Given the description of an element on the screen output the (x, y) to click on. 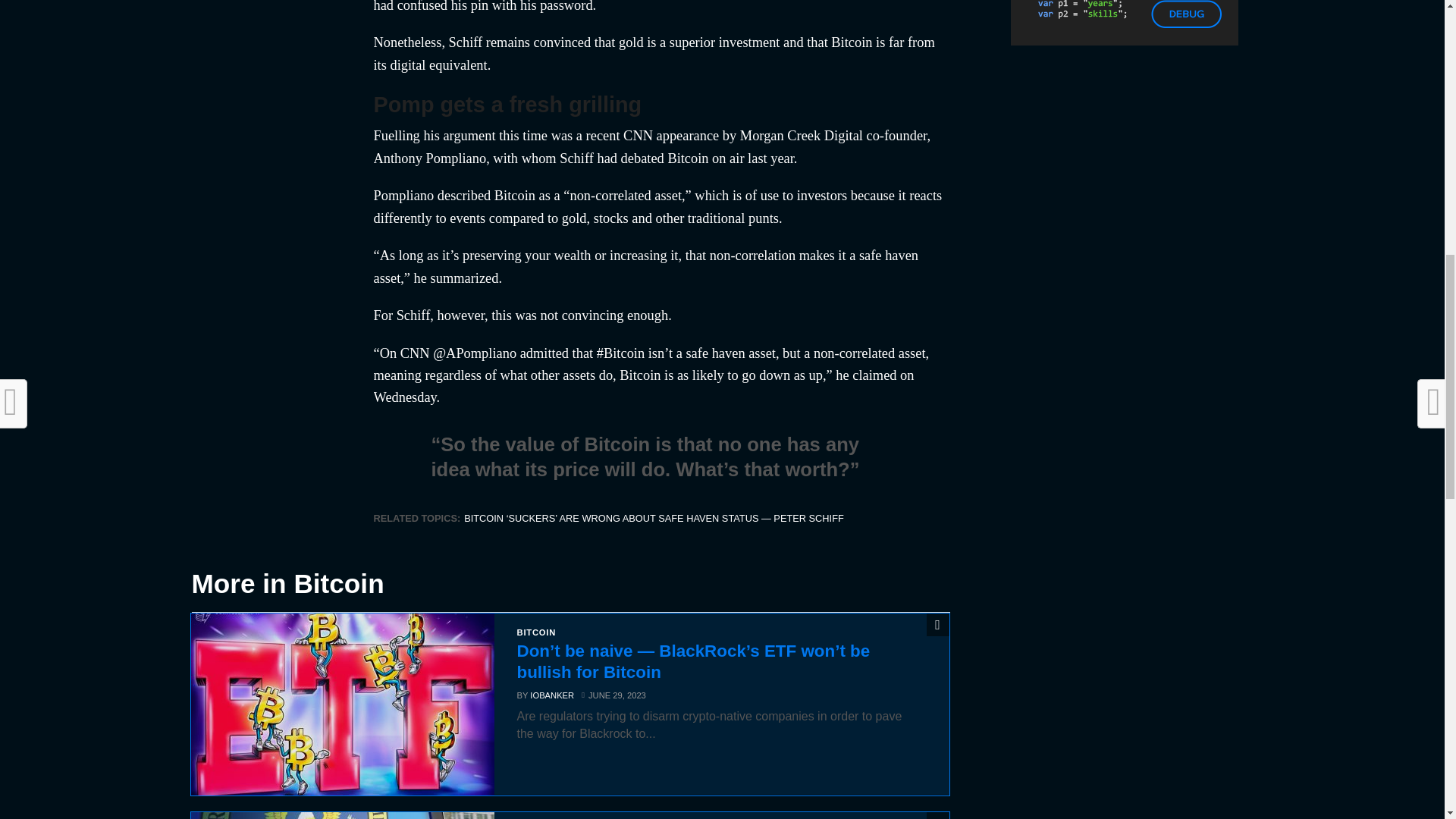
Posts by ioBanker (551, 695)
debated (642, 158)
claimed (873, 375)
CNN (637, 135)
reacts differently (657, 206)
